Given the description of an element on the screen output the (x, y) to click on. 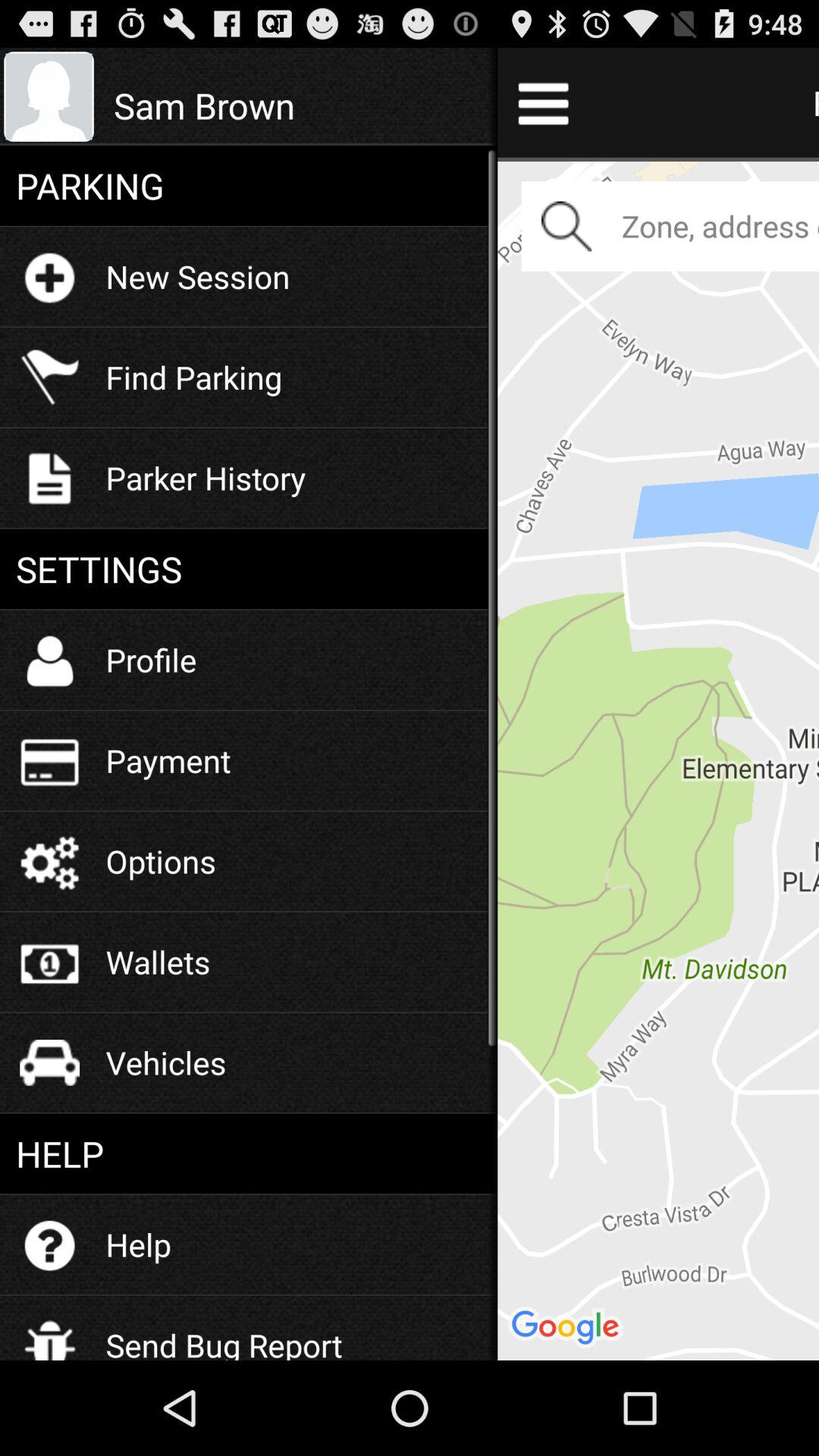
choose icon above the vehicles (157, 961)
